Given the description of an element on the screen output the (x, y) to click on. 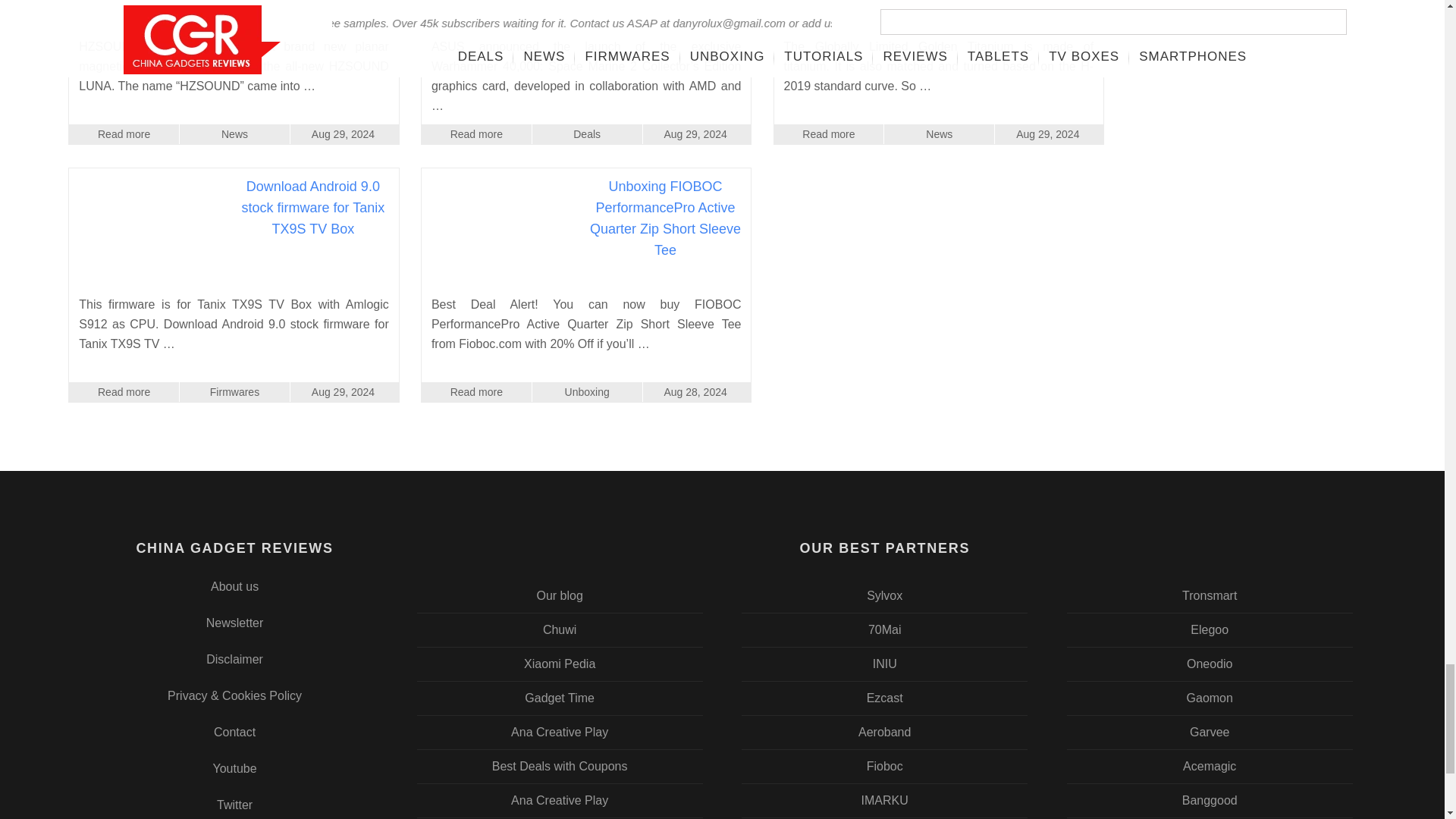
Best Deals with Coupons (559, 766)
Best outdoor TV, Bathroom TV, RV TV and kitchen TV for sale (885, 595)
anacreativeplay (559, 800)
